Given the description of an element on the screen output the (x, y) to click on. 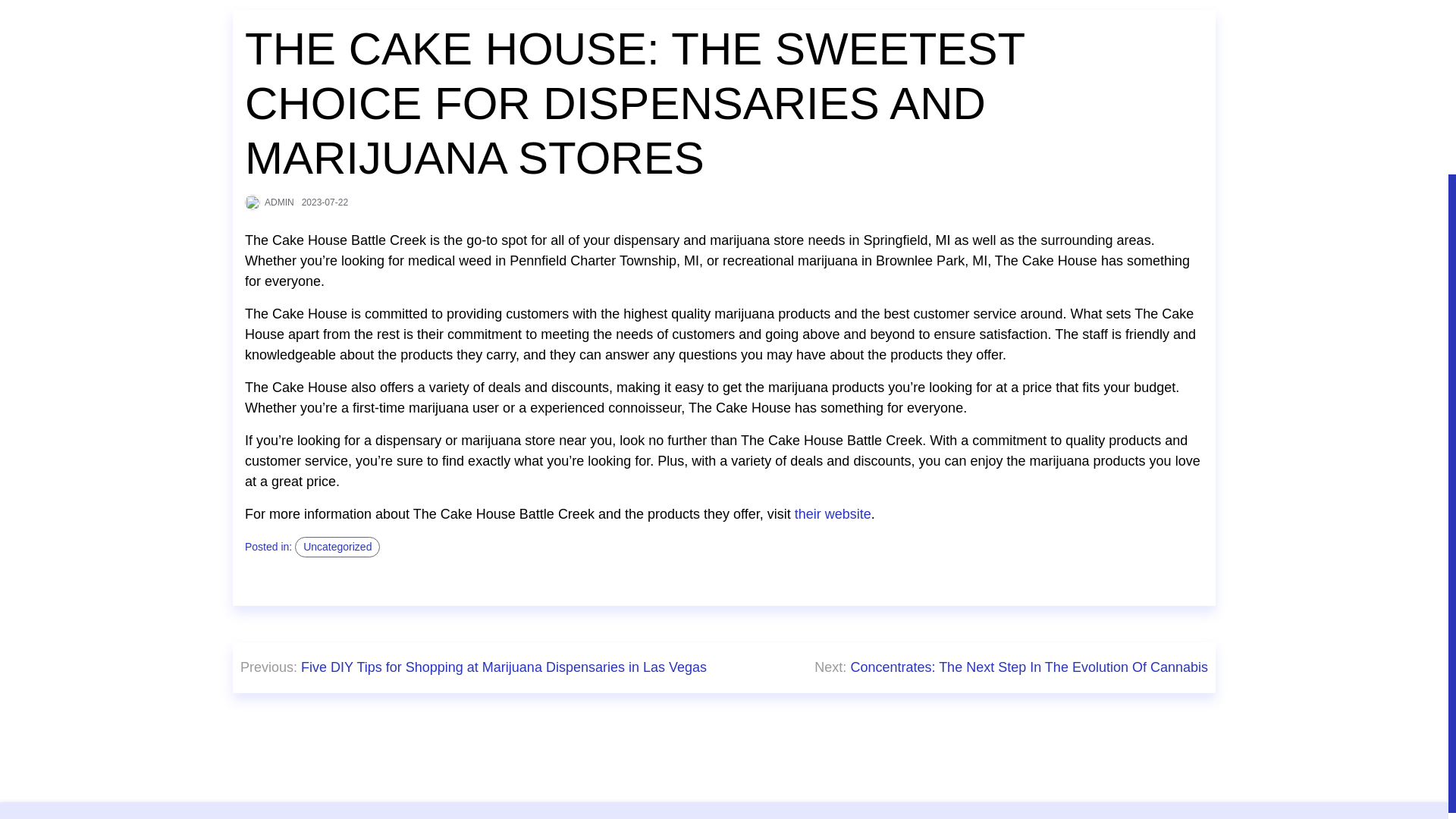
Uncategorized (337, 547)
ADMIN (279, 201)
their website (832, 514)
